Given the description of an element on the screen output the (x, y) to click on. 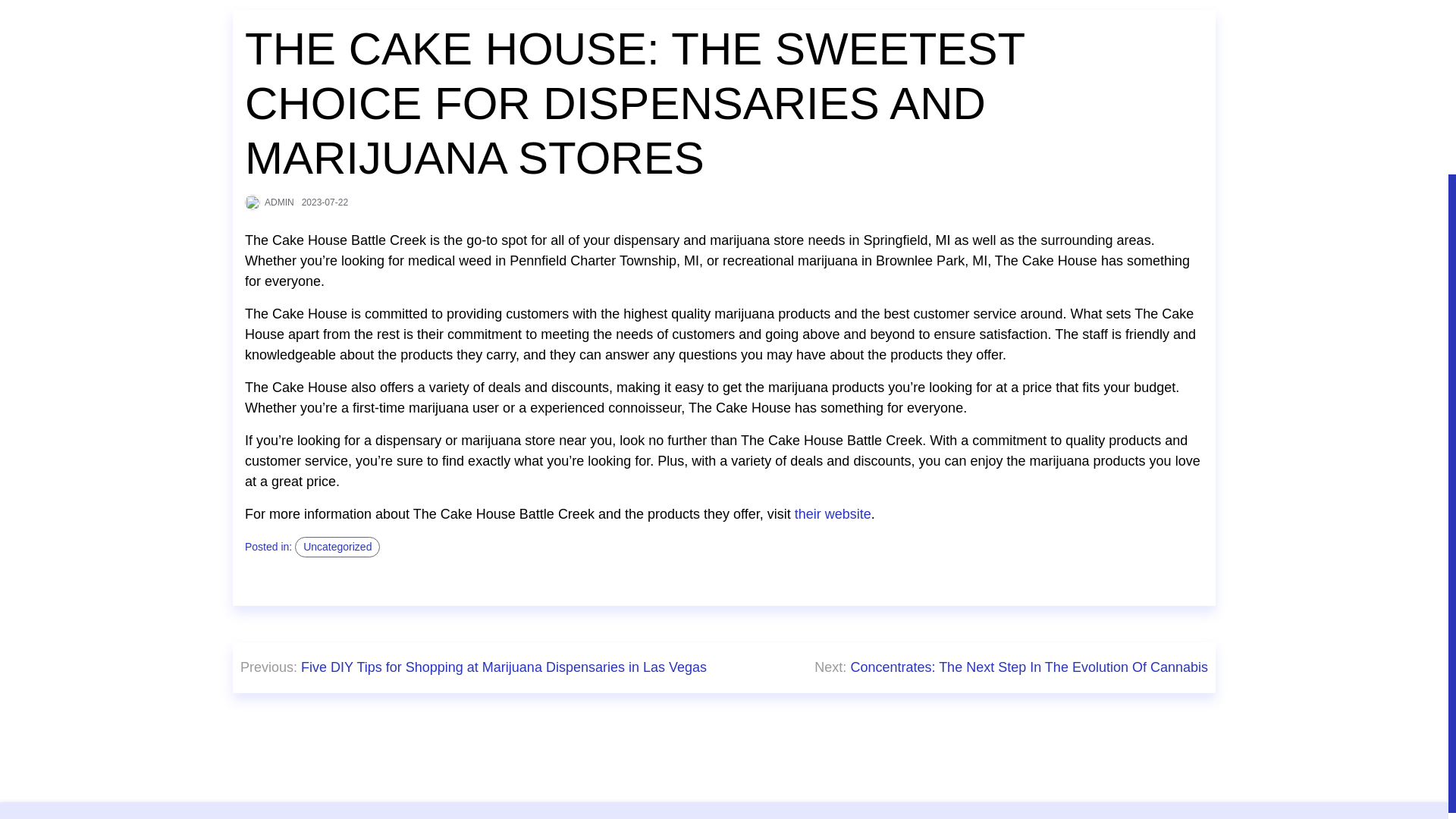
Uncategorized (337, 547)
ADMIN (279, 201)
their website (832, 514)
